Given the description of an element on the screen output the (x, y) to click on. 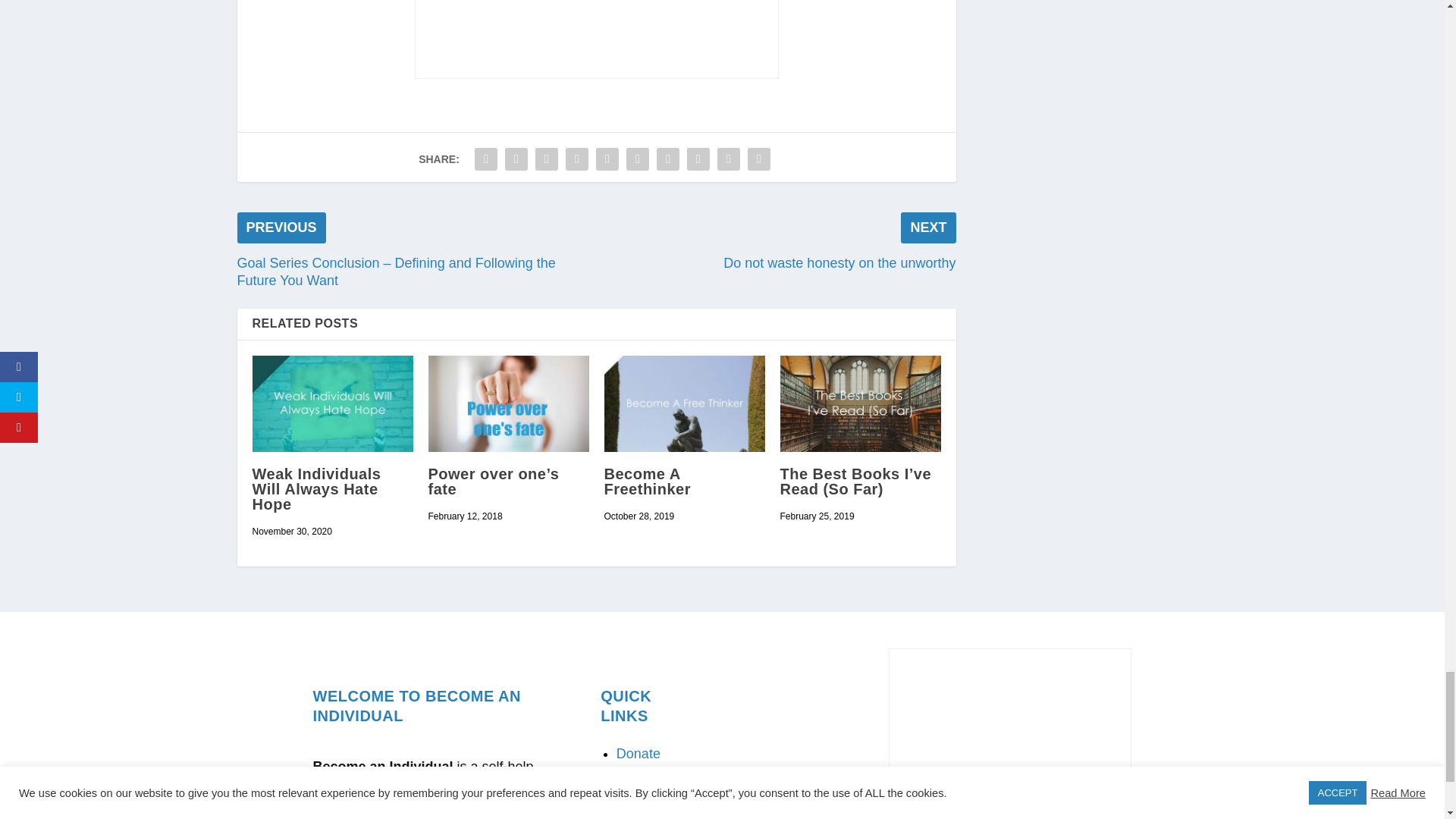
Share "Create the best narratives" via Pinterest (607, 159)
Share "Create the best narratives" via Print (759, 159)
Share "Create the best narratives" via Stumbleupon (697, 159)
Share "Create the best narratives" via LinkedIn (637, 159)
Share "Create the best narratives" via Facebook (485, 159)
Share "Create the best narratives" via Email (728, 159)
Share "Create the best narratives" via Tumblr (577, 159)
Share "Create the best narratives" via Twitter (515, 159)
Share "Create the best narratives" via Buffer (667, 159)
